Given the description of an element on the screen output the (x, y) to click on. 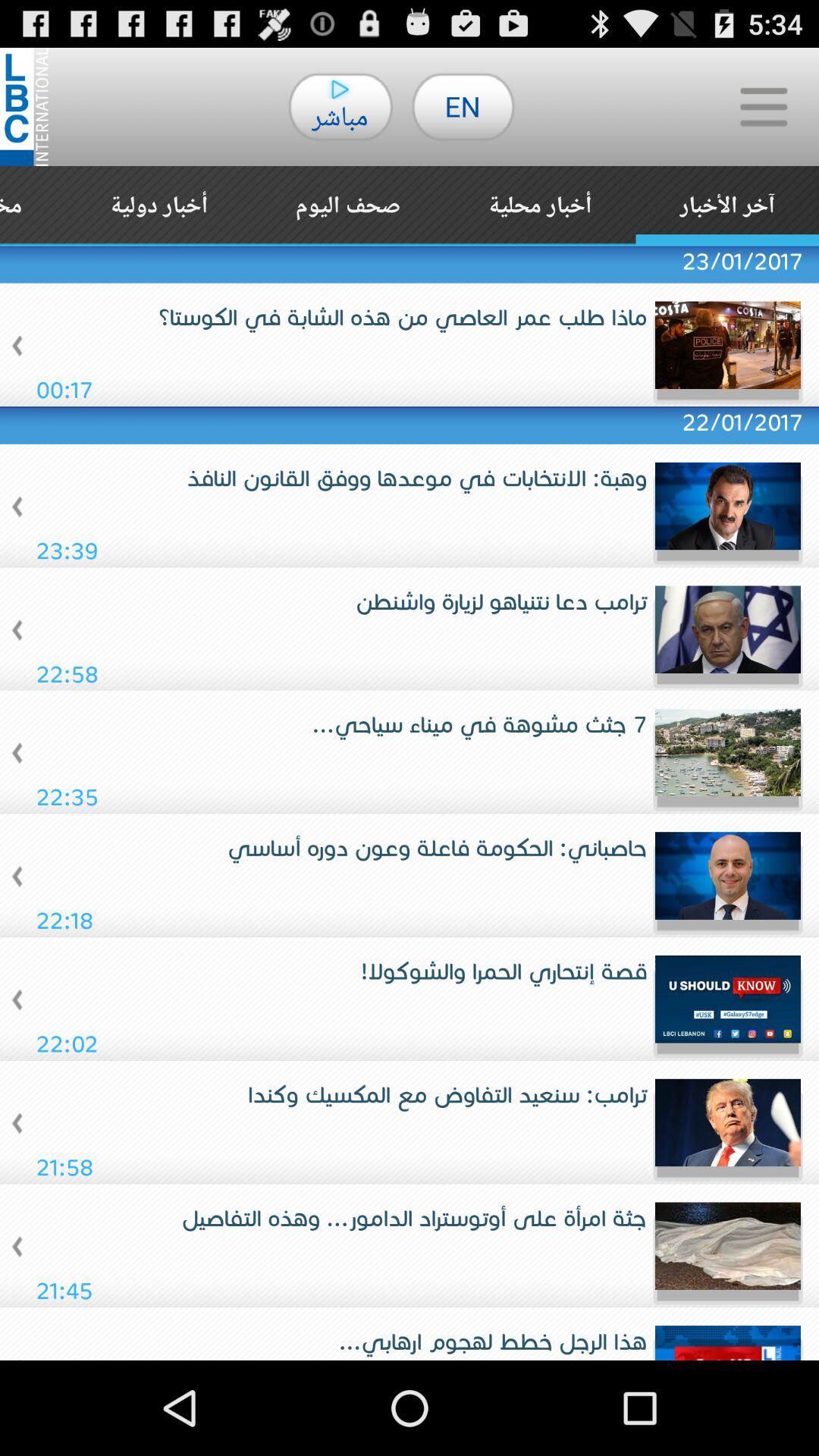
swipe until the en button (462, 106)
